Given the description of an element on the screen output the (x, y) to click on. 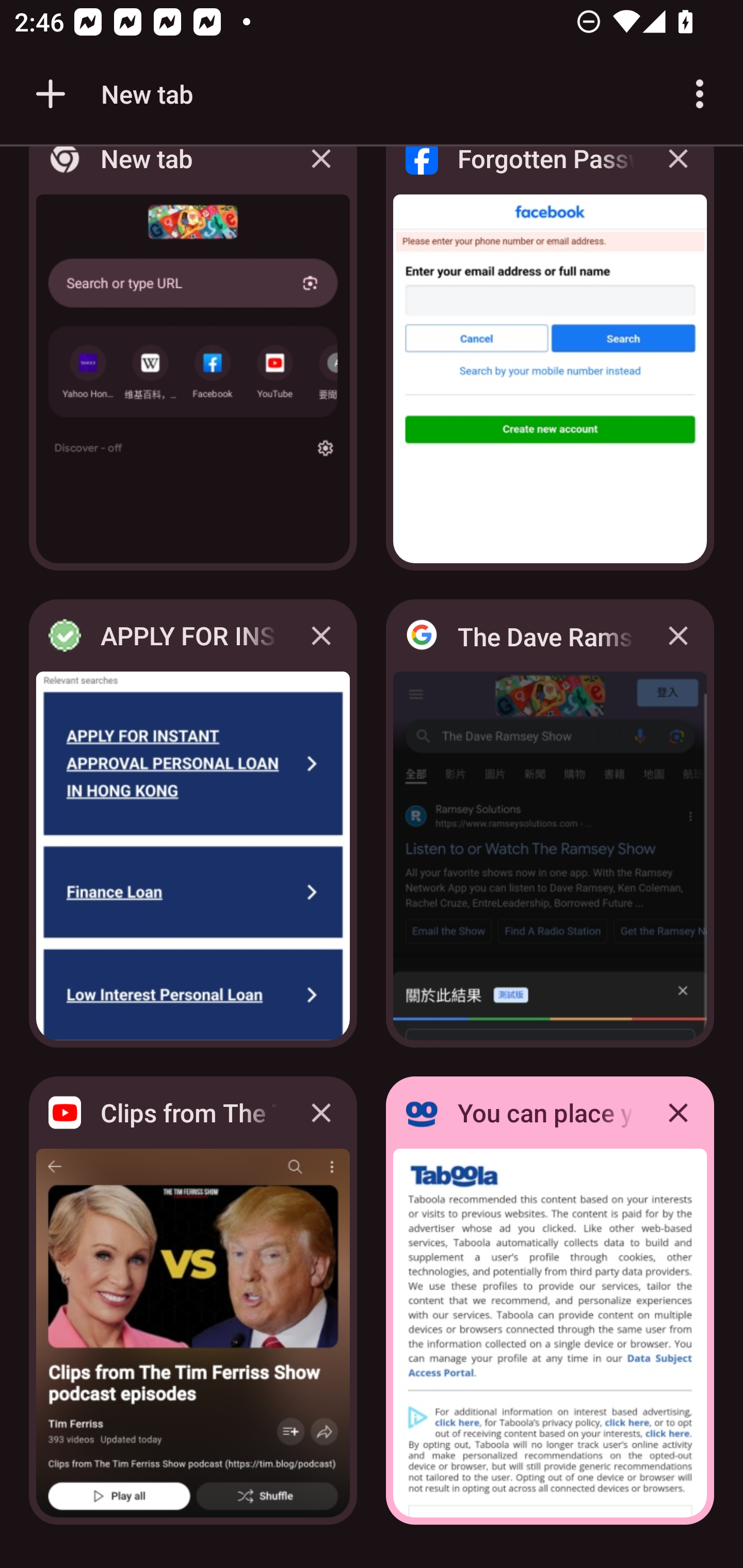
New tab (111, 93)
Customize and control Google Chrome (699, 93)
New tab New tab, tab Close New tab tab (192, 364)
Close New tab tab (320, 173)
Close The Dave Ramsey Show - Google 搜尋 tab (677, 635)
